Given the description of an element on the screen output the (x, y) to click on. 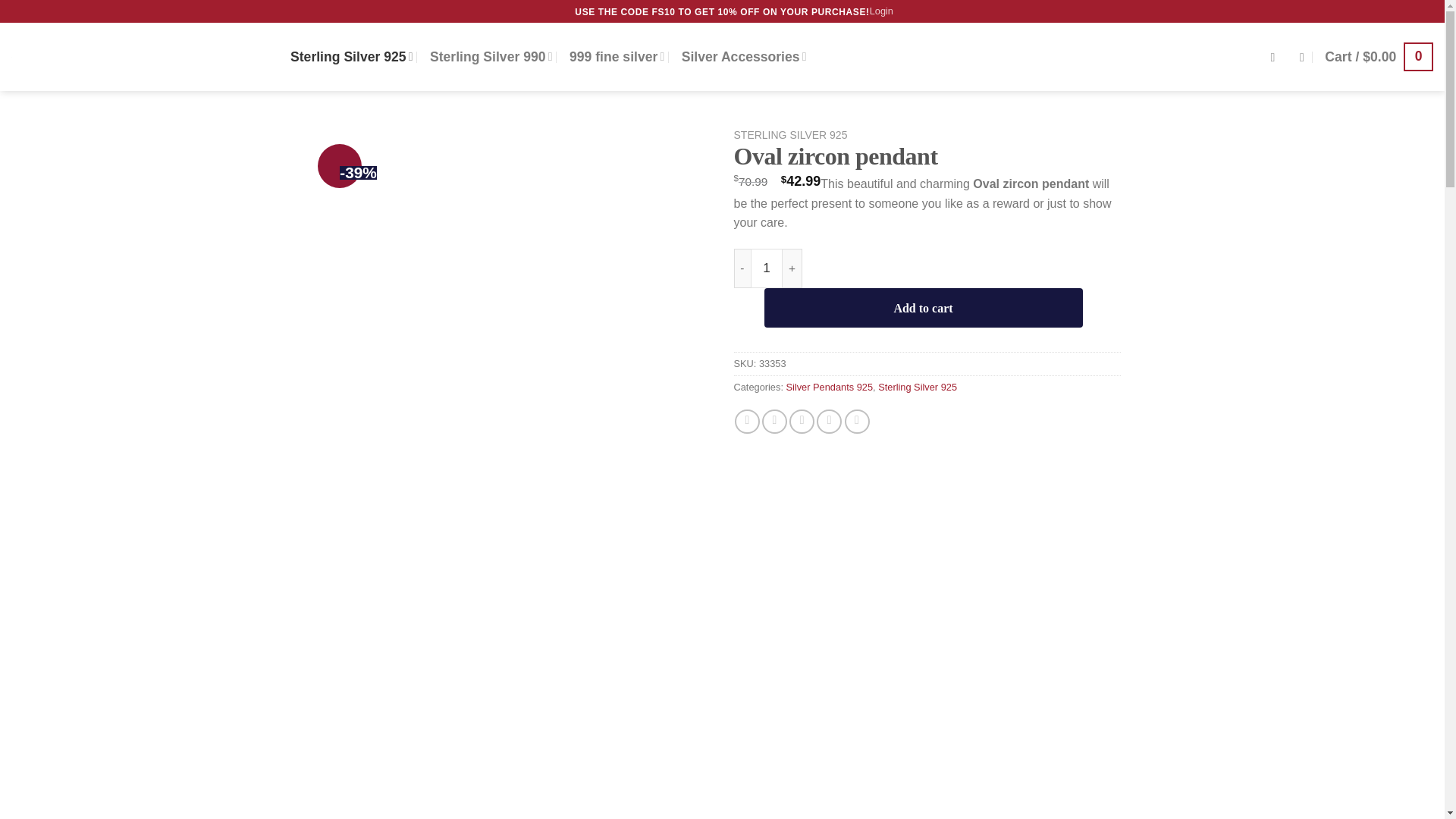
Cart (1378, 56)
Sterling Silver 990 (491, 56)
Login (881, 11)
Sterling Silver 925 (351, 56)
Silver Accessories (743, 56)
Share on LinkedIn (856, 421)
Share on Twitter (774, 421)
999 fine silver (616, 56)
Share on Facebook (747, 421)
